Given the description of an element on the screen output the (x, y) to click on. 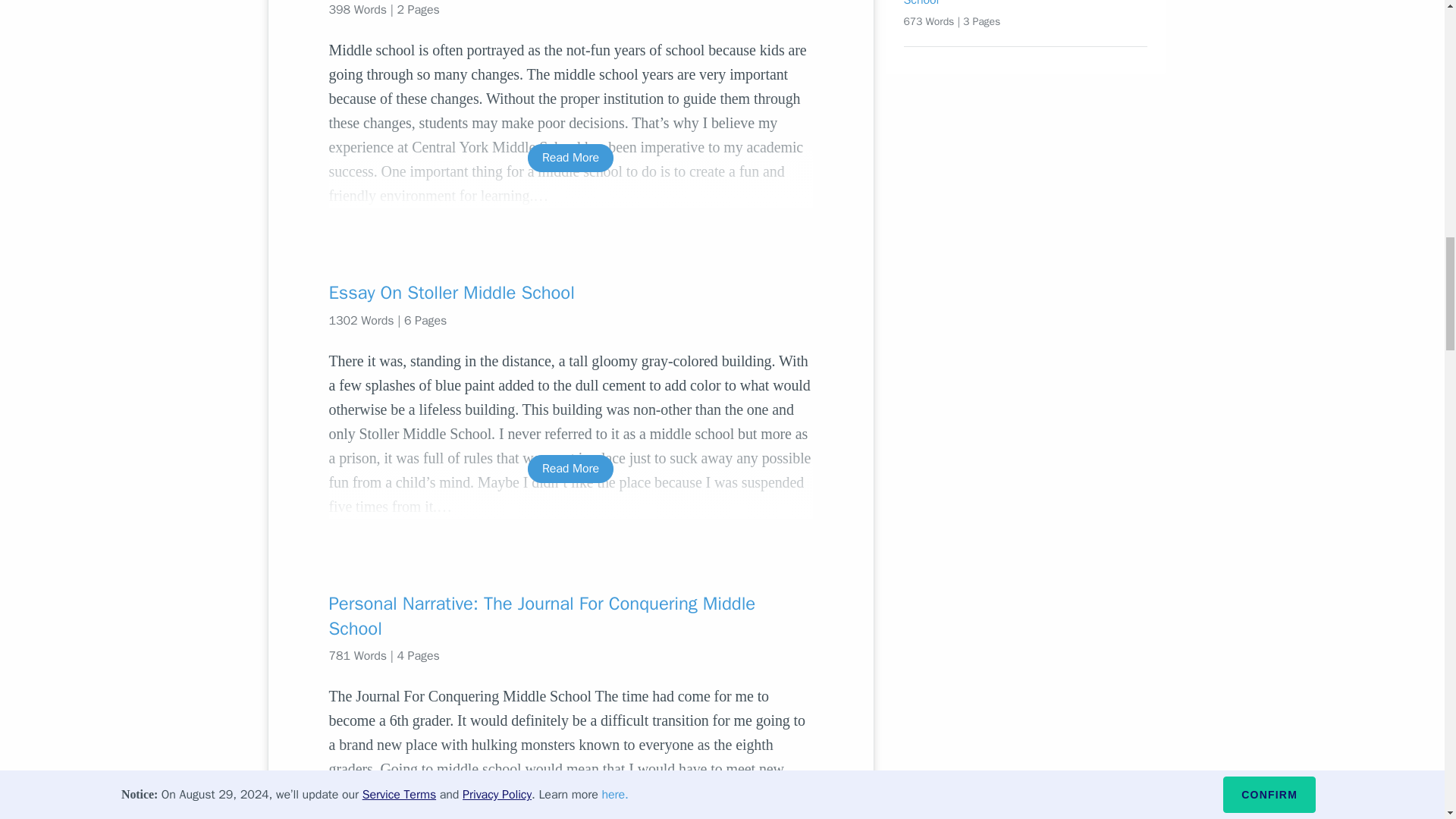
Read More (569, 157)
Read More (569, 804)
Personal Narrative: The Journal For Conquering Middle School (570, 615)
Read More (569, 469)
Essay On Stoller Middle School (570, 292)
